Given the description of an element on the screen output the (x, y) to click on. 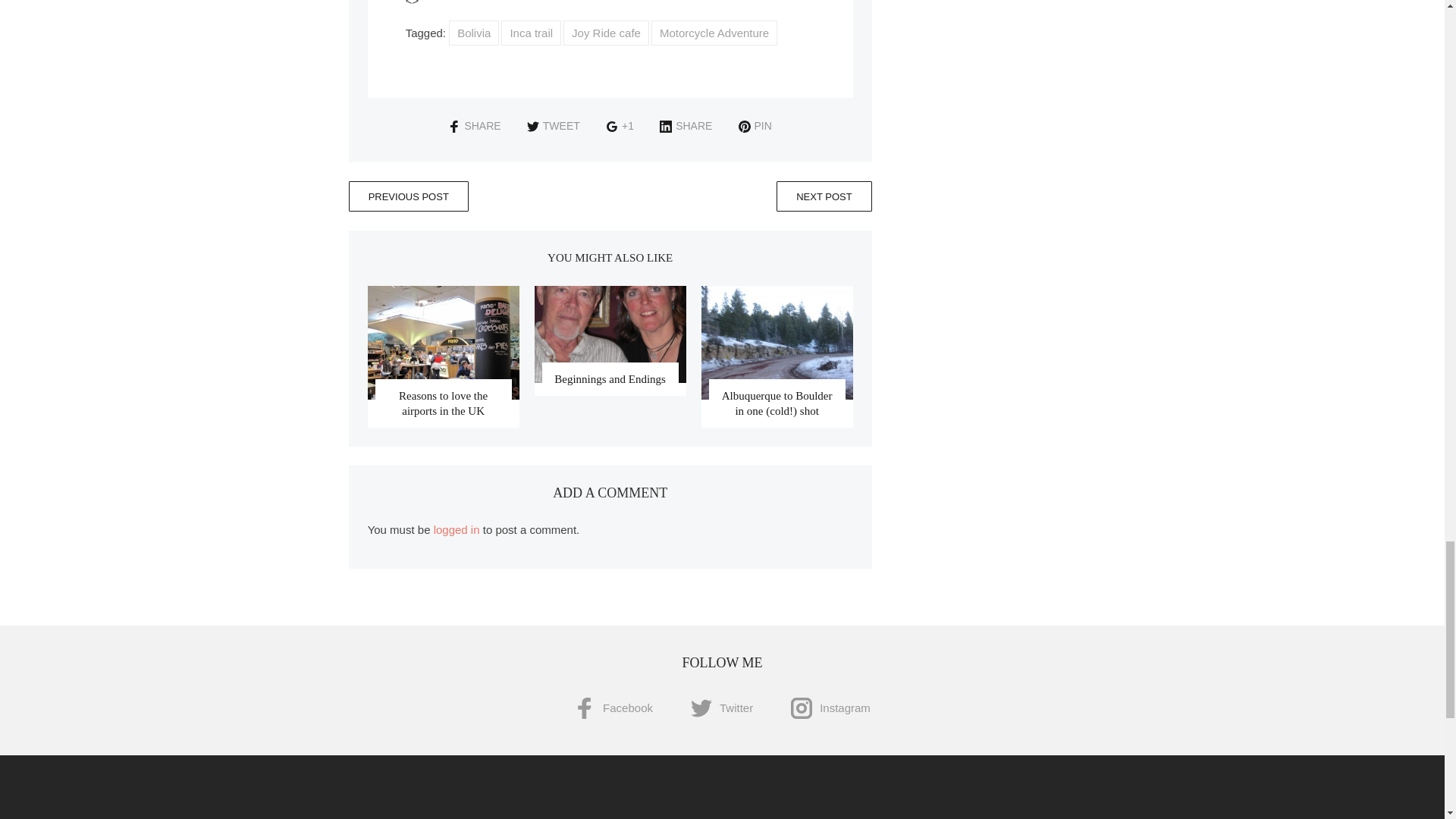
PIN (754, 125)
SHARE (685, 125)
TWEET (553, 125)
Reasons to love the airports in the UK (442, 402)
Bolivia (473, 32)
logged in (456, 529)
NEXT POST (823, 195)
Motorcycle Adventure (713, 32)
Inca trail (530, 32)
Beginnings and Endings (609, 378)
Joy Ride cafe (606, 32)
SHARE (474, 125)
PREVIOUS POST (408, 195)
